Given the description of an element on the screen output the (x, y) to click on. 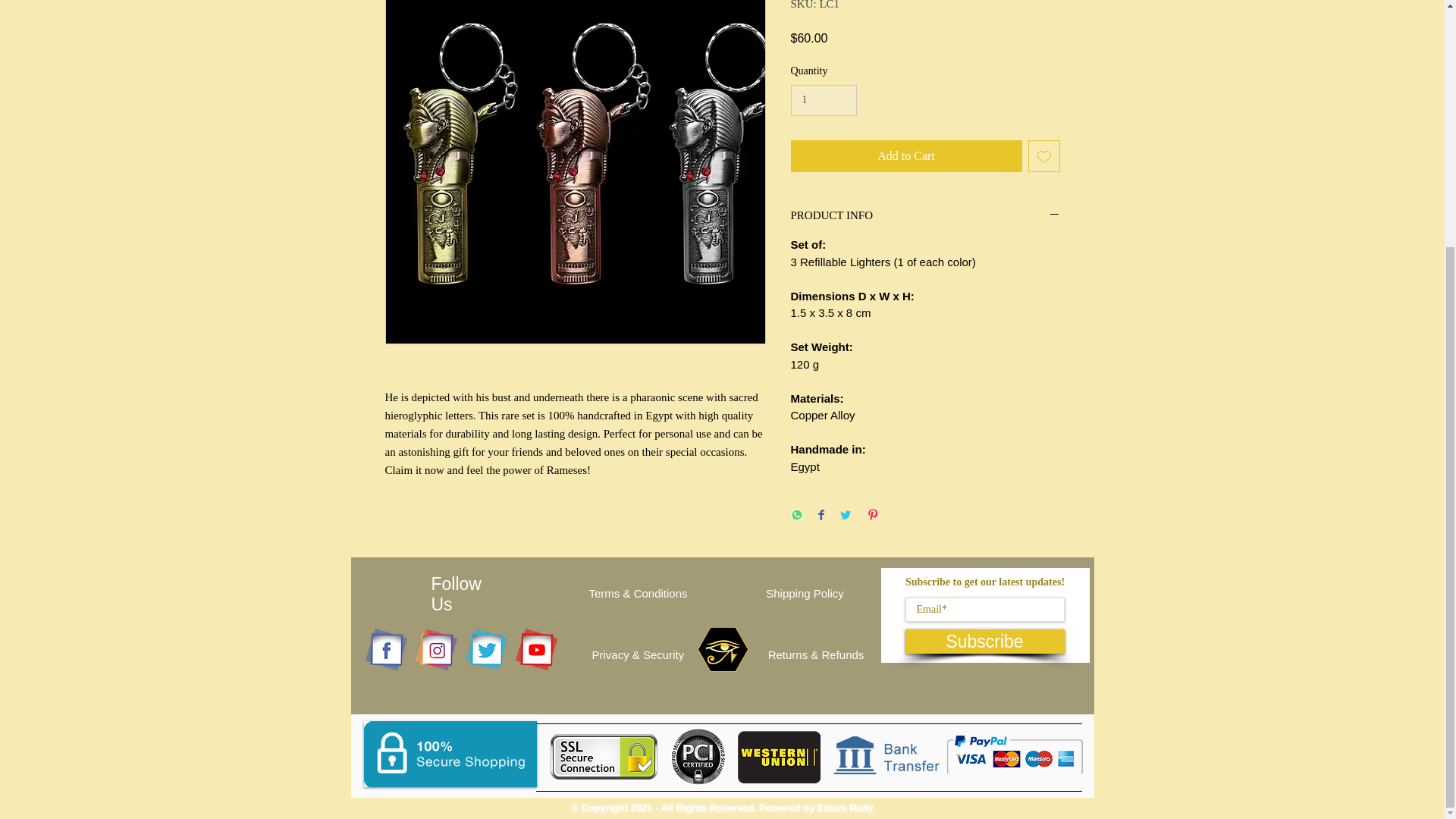
1 (823, 100)
Shipping Policy (804, 593)
PRODUCT INFO (924, 216)
Subscribe (984, 641)
Add to Cart (906, 155)
